Given the description of an element on the screen output the (x, y) to click on. 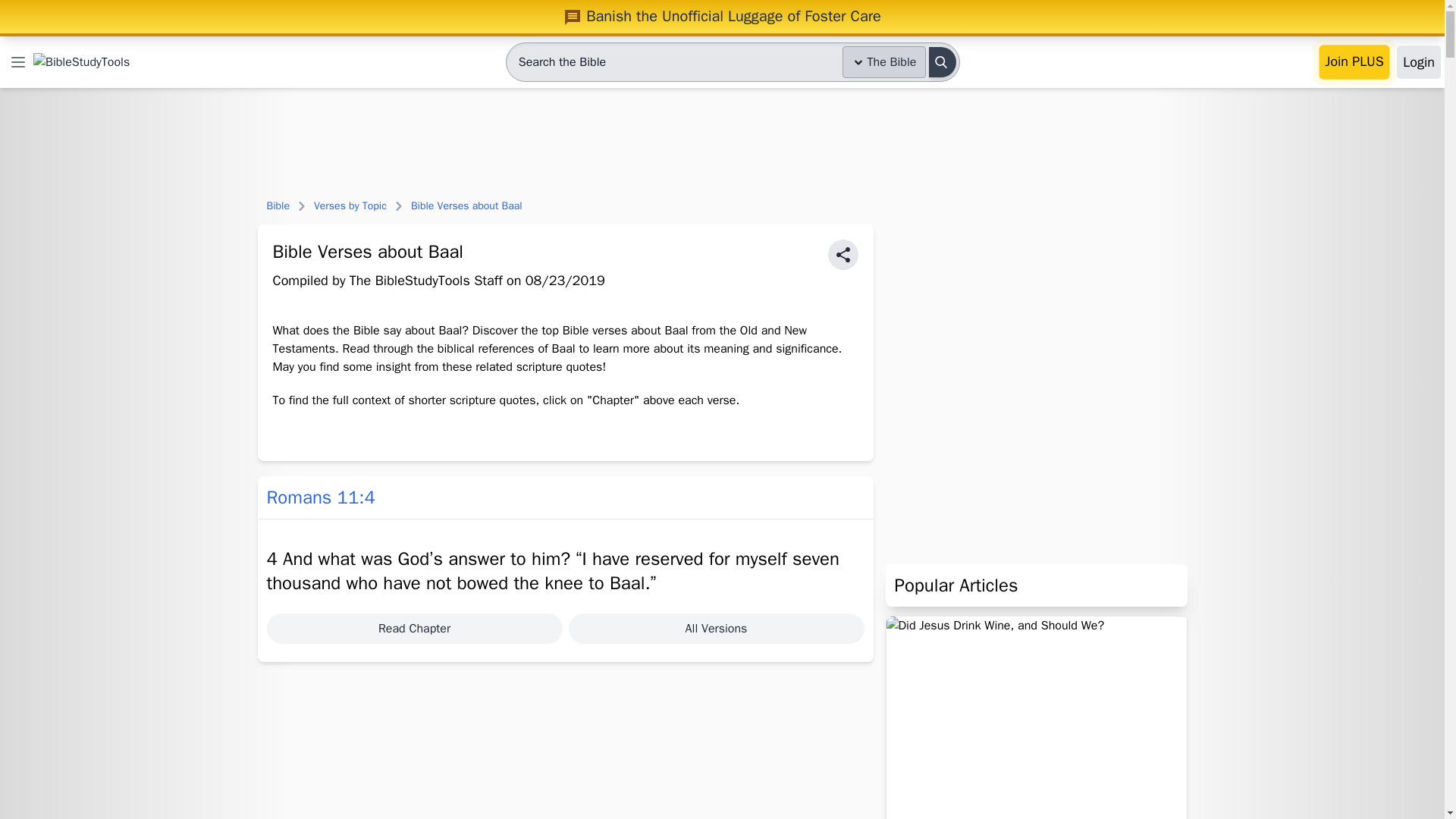
The Bible (884, 61)
Banish the Unofficial Luggage of Foster Care (721, 16)
Login (1418, 62)
Join PLUS (1354, 62)
